Given the description of an element on the screen output the (x, y) to click on. 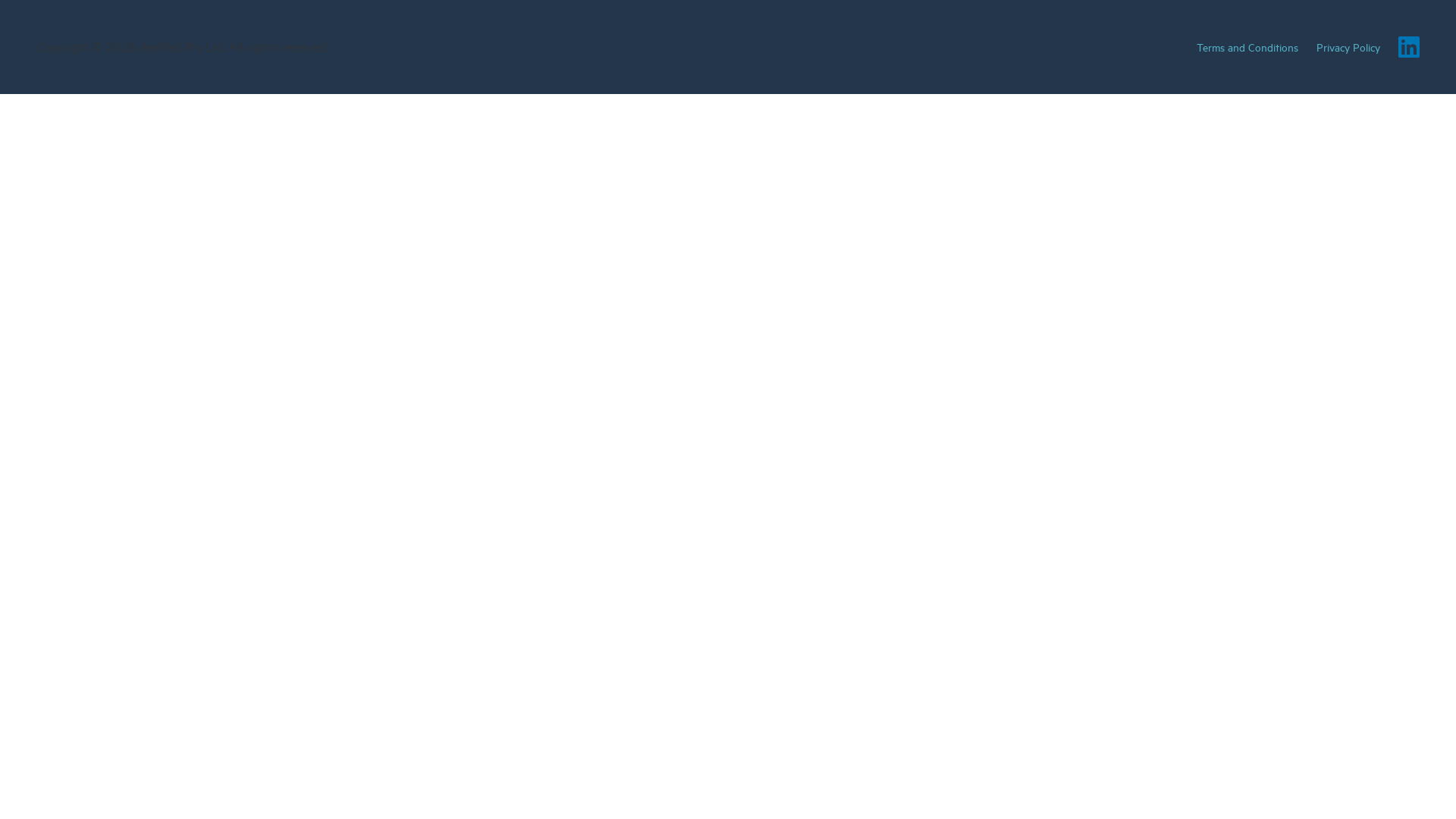
Privacy Policy Element type: text (1348, 46)
Terms and Conditions Element type: text (1247, 46)
